Given the description of an element on the screen output the (x, y) to click on. 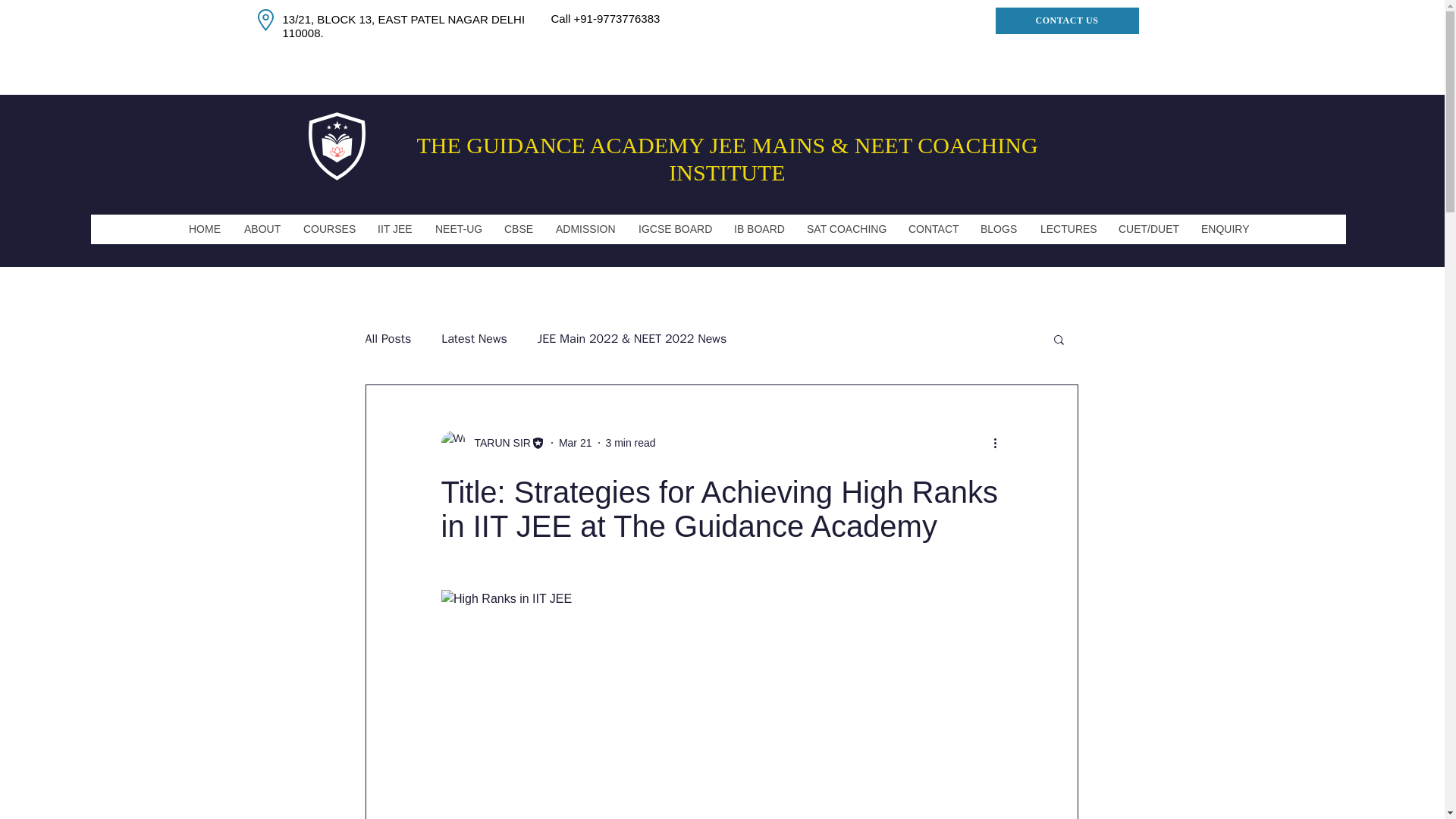
CONTACT US (1066, 20)
Mar 21 (575, 442)
ABOUT (261, 229)
COURSES (328, 229)
SAT COACHING (845, 229)
TARUN SIR (498, 442)
IGCSE BOARD (674, 229)
HOME (203, 229)
CBSE (517, 229)
3 min read (630, 442)
